Given the description of an element on the screen output the (x, y) to click on. 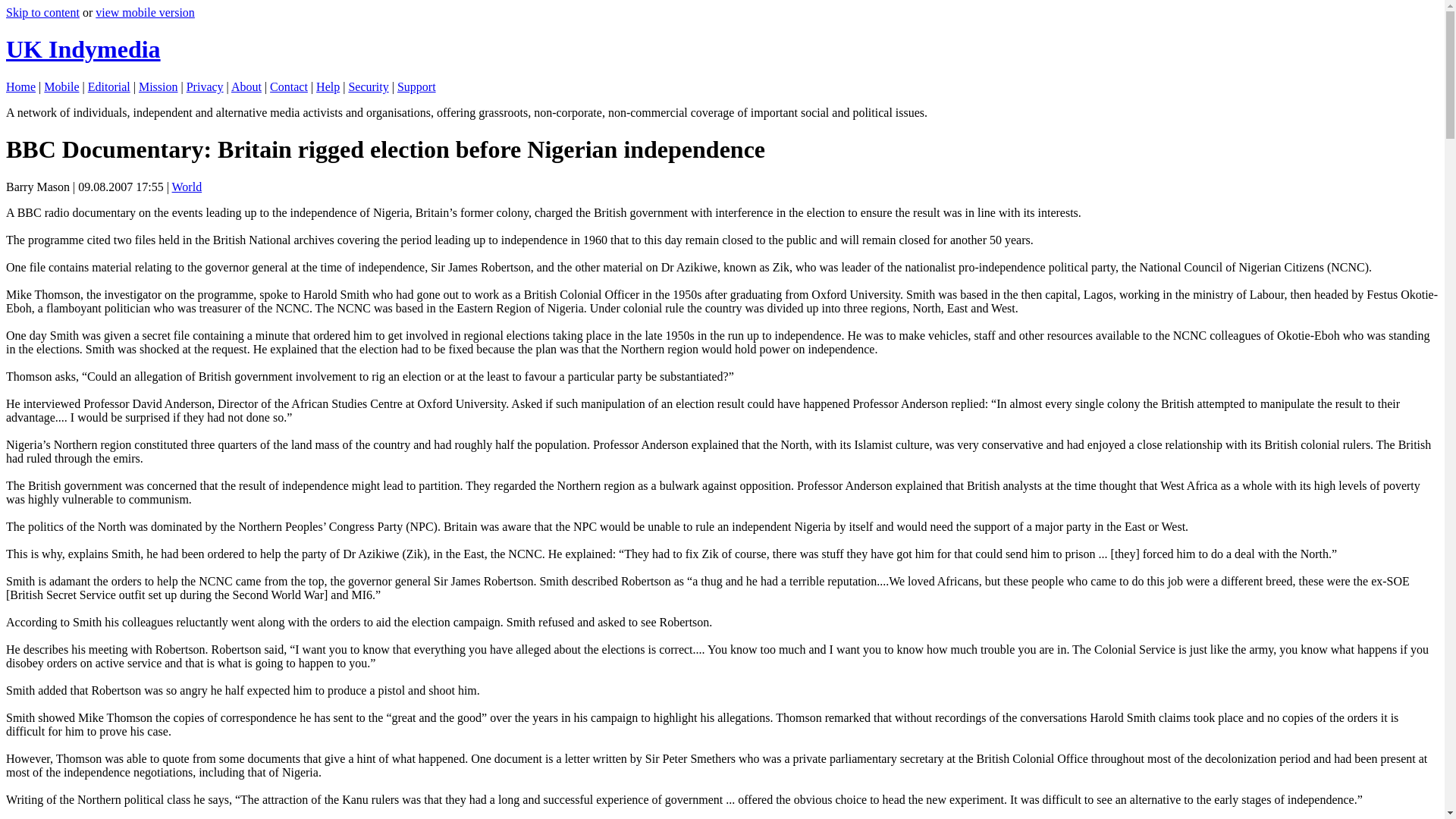
About (246, 86)
Mission (157, 86)
Home (19, 86)
Editorial (109, 86)
UK Indymedia (82, 49)
Mobile (60, 86)
Support (416, 86)
Help (327, 86)
Skip to content (42, 11)
